Given the description of an element on the screen output the (x, y) to click on. 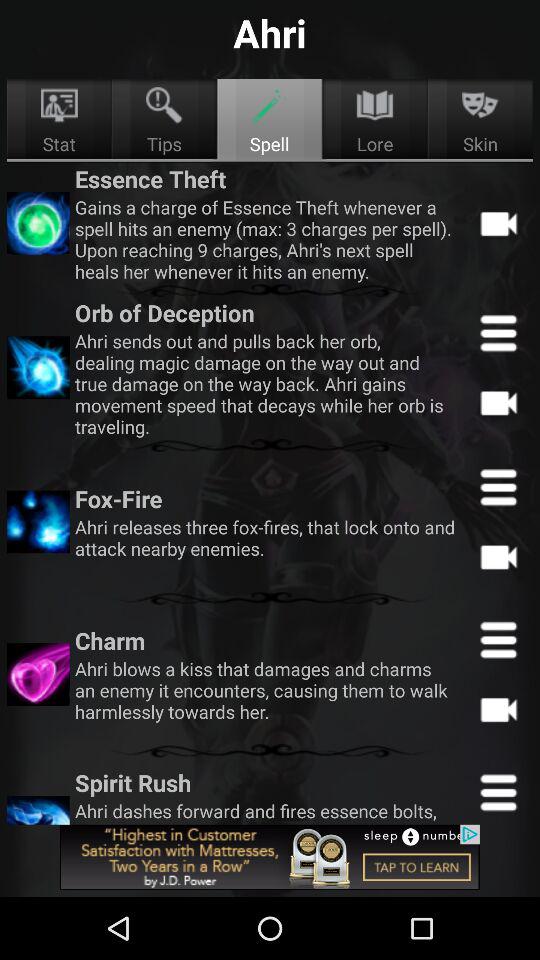
menu (498, 639)
